Given the description of an element on the screen output the (x, y) to click on. 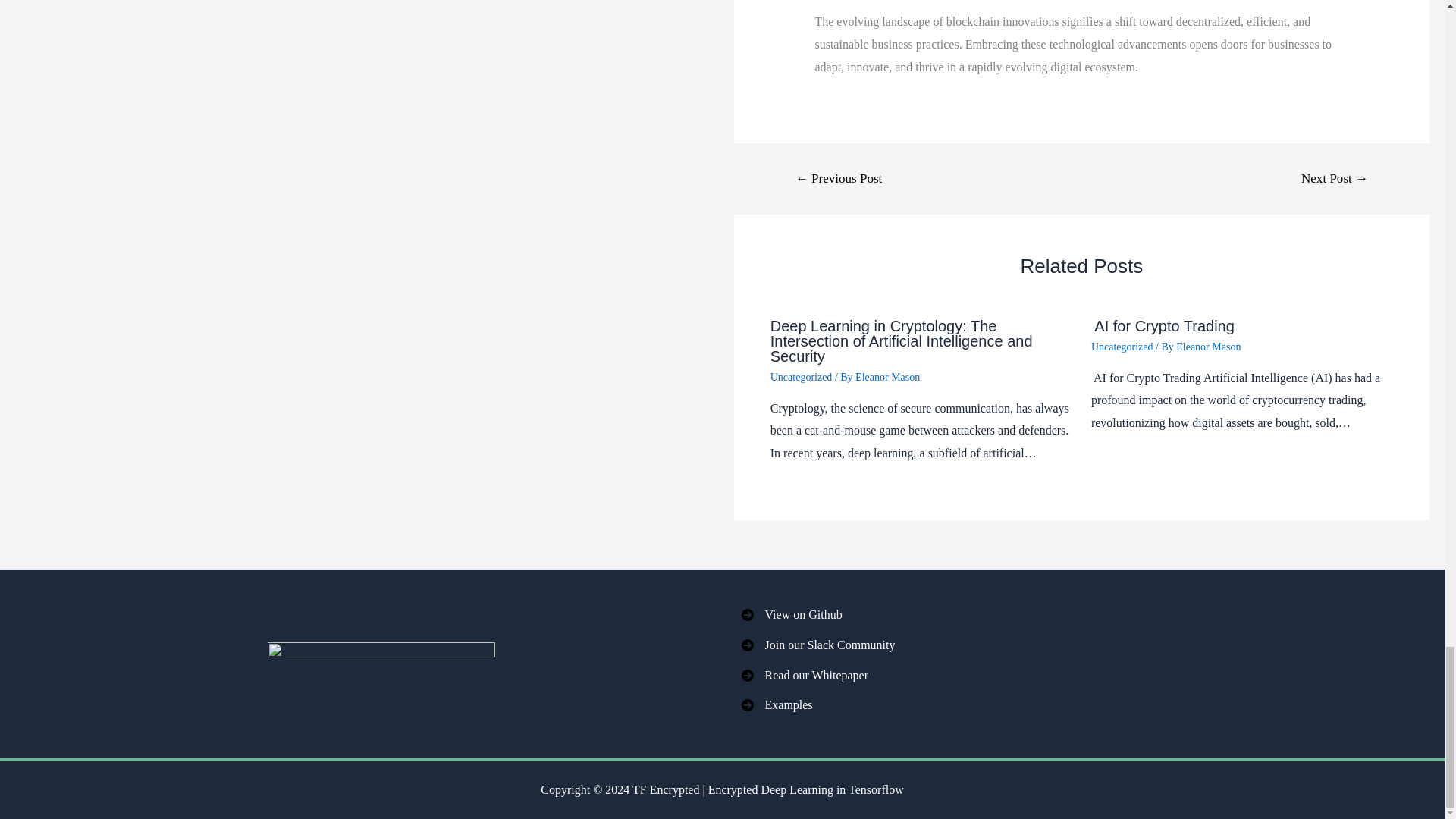
Uncategorized (801, 377)
View all posts by Eleanor Mason (1208, 346)
View all posts by Eleanor Mason (888, 377)
